Given the description of an element on the screen output the (x, y) to click on. 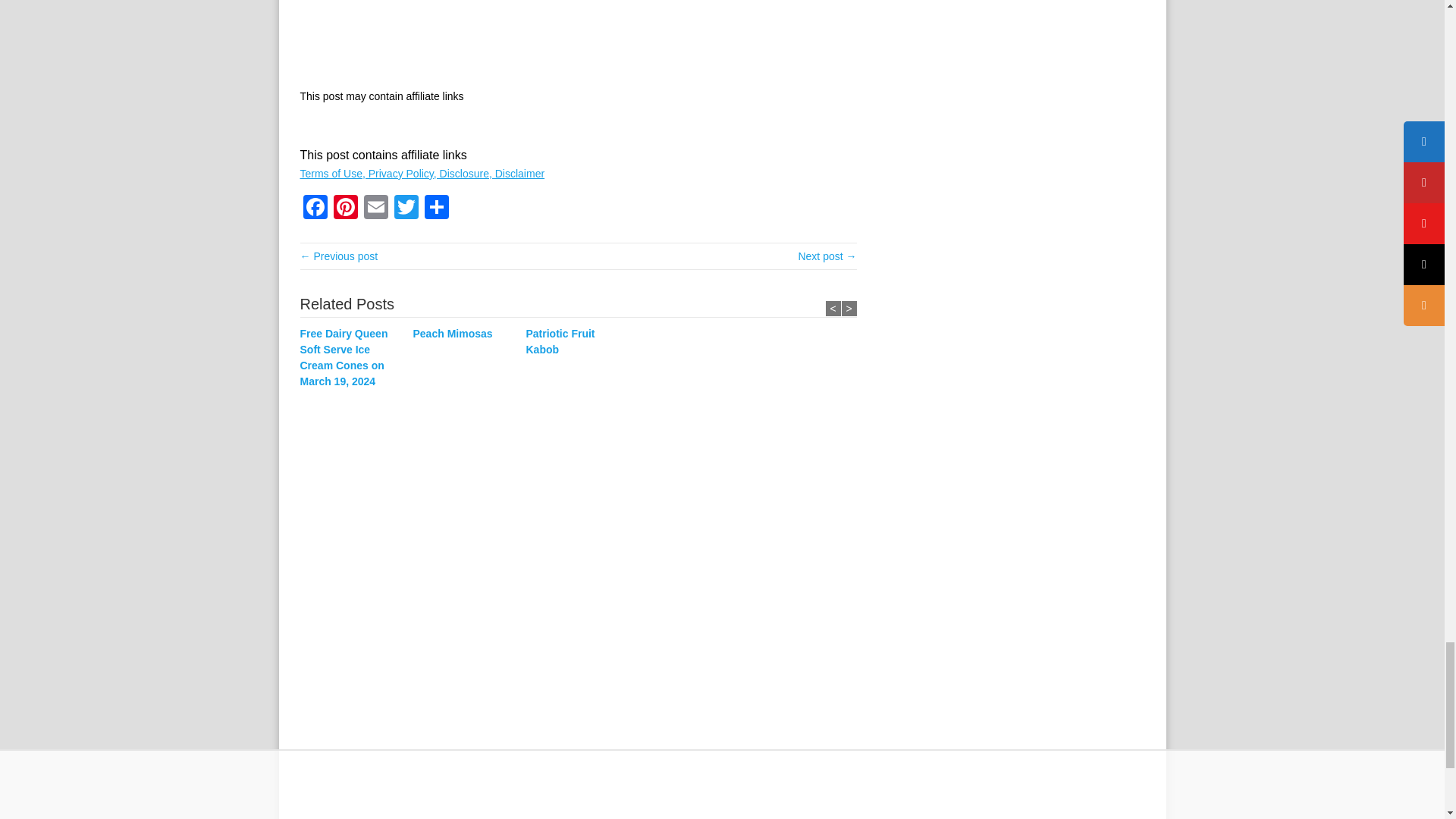
Peach Mimosas (464, 333)
Farm Animal Rock Garden (826, 256)
Email (376, 208)
Patriotic Fruit Kabob (577, 341)
Pinterest (345, 208)
Facebook (314, 208)
Facebook (314, 208)
Terms of Use, Privacy Policy, Disclosure, Disclaimer (421, 173)
Twitter (406, 208)
Pinterest (345, 208)
Twitter (406, 208)
